Given the description of an element on the screen output the (x, y) to click on. 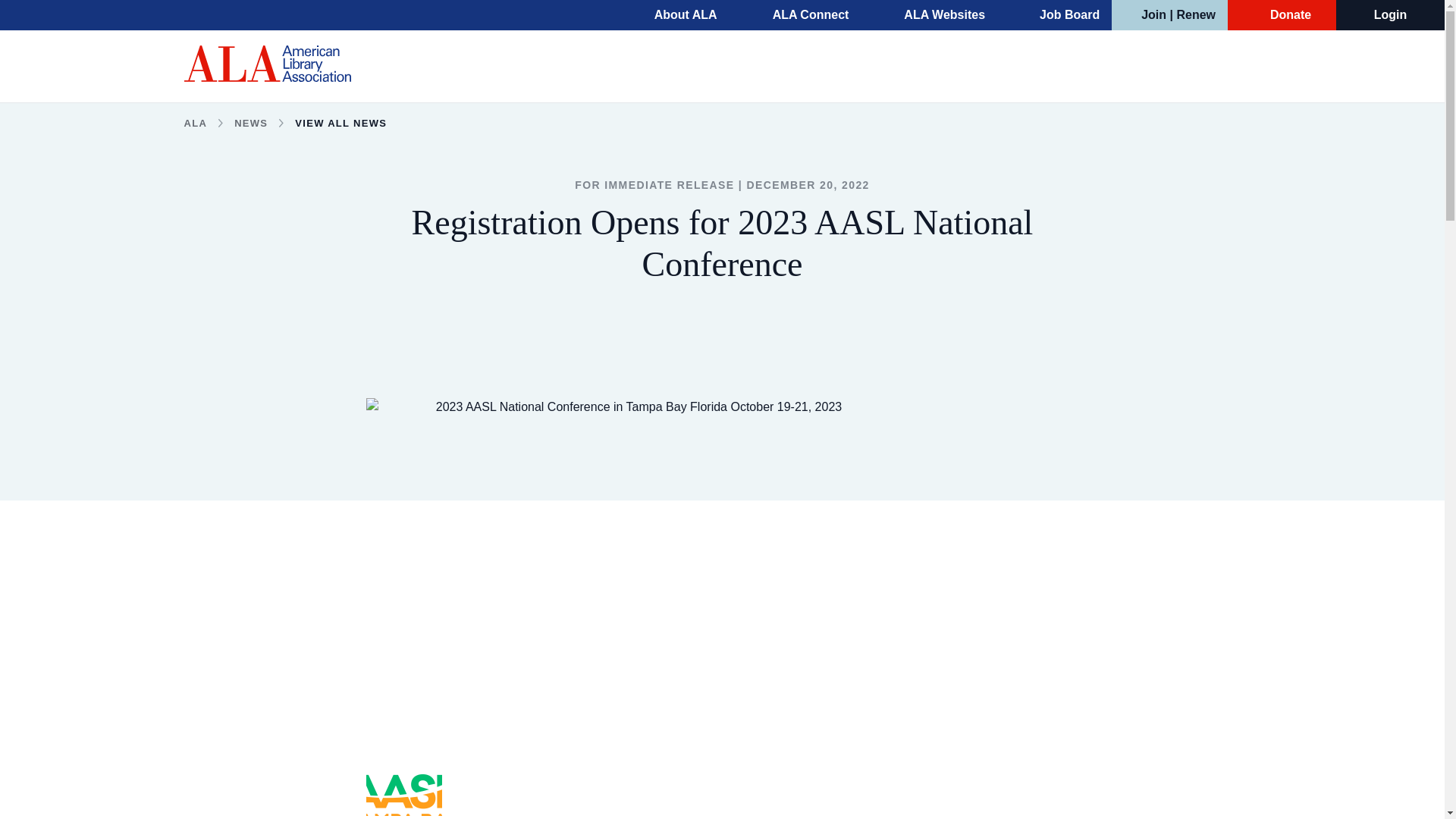
Login (1390, 15)
ALA Websites (934, 15)
Job Board (1060, 15)
About ALA (675, 15)
ALA Connect (801, 15)
Donate (1281, 15)
Donate (1281, 15)
Job Board (1060, 15)
Login (1390, 15)
ALA Connect (801, 15)
